Given the description of an element on the screen output the (x, y) to click on. 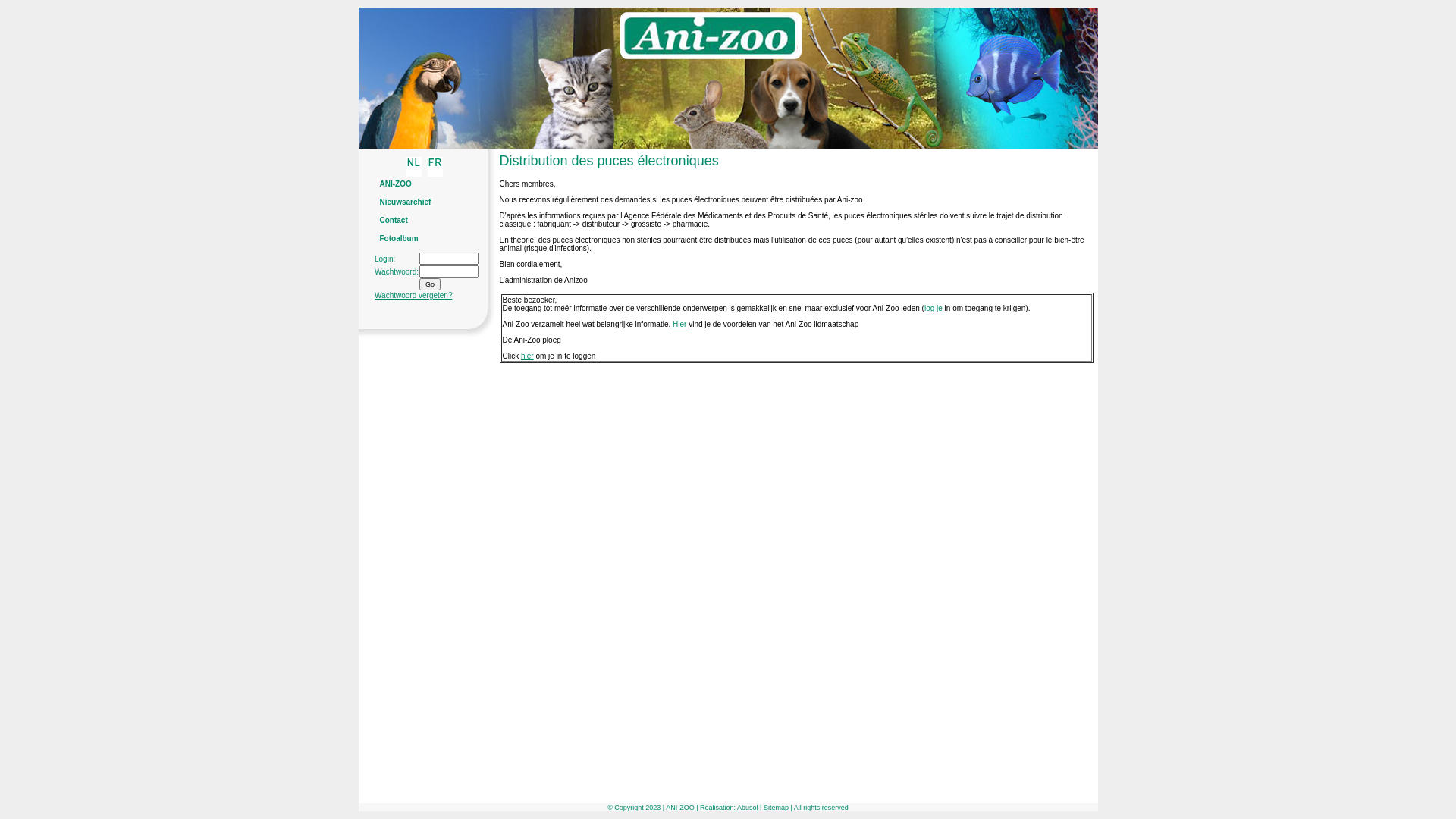
Abusol Element type: text (747, 807)
Go Element type: text (429, 284)
FR Element type: hover (434, 173)
NL Element type: hover (413, 173)
Wachtwoord vergeten? Element type: text (412, 295)
Contact Element type: text (393, 220)
Sitemap Element type: text (775, 807)
ANI-ZOO Element type: text (395, 183)
hier Element type: text (526, 355)
Hier Element type: text (679, 324)
Fotoalbum Element type: text (398, 238)
Nieuwsarchief Element type: text (404, 201)
log je Element type: text (934, 308)
